Given the description of an element on the screen output the (x, y) to click on. 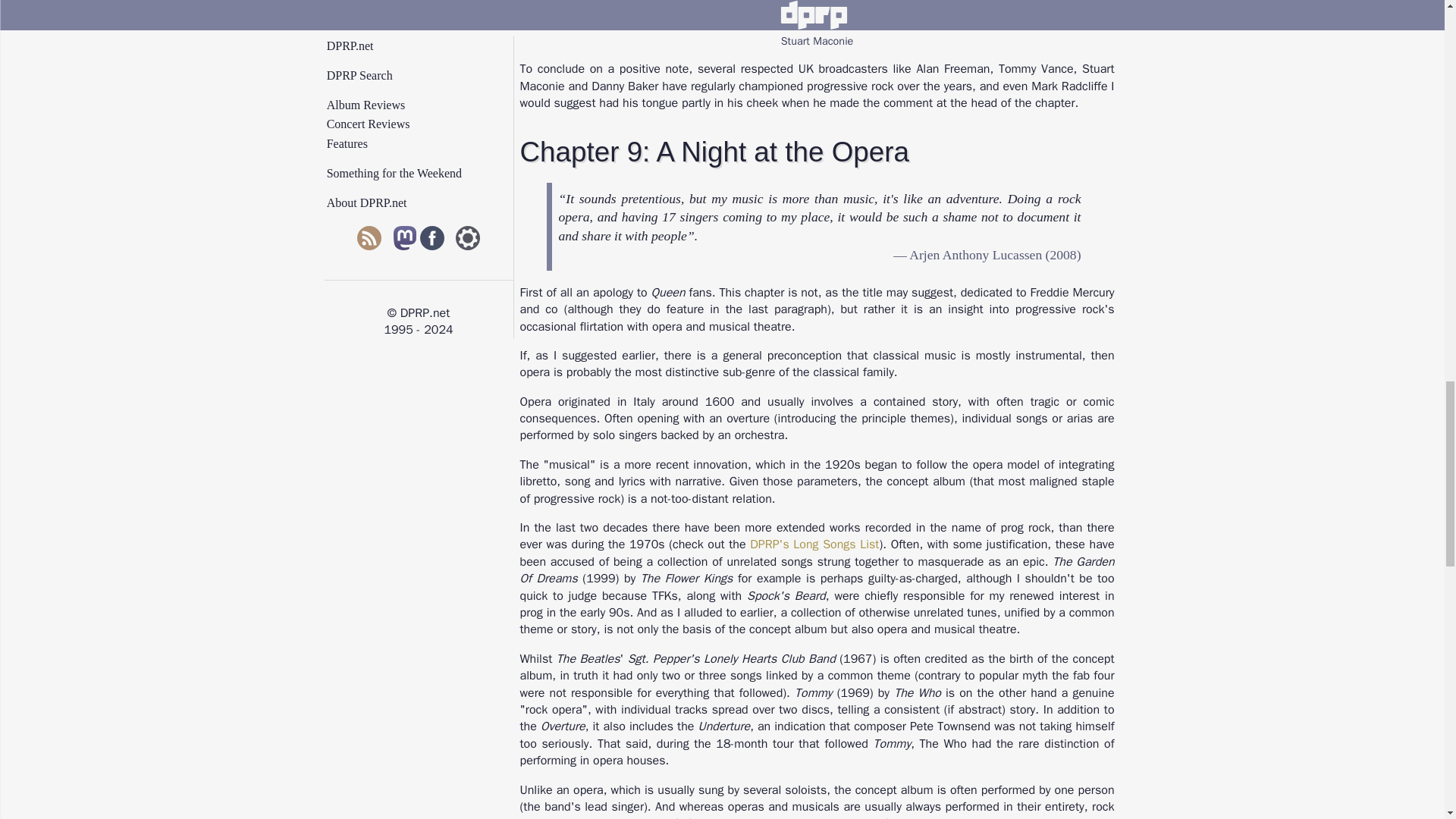
DPRP's Long Songs List (814, 544)
